Given the description of an element on the screen output the (x, y) to click on. 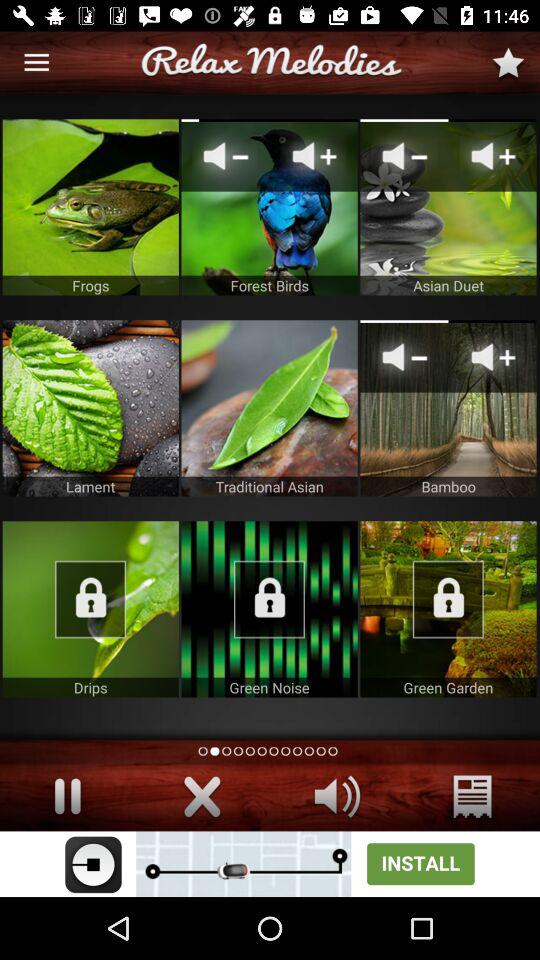
pause (67, 796)
